Given the description of an element on the screen output the (x, y) to click on. 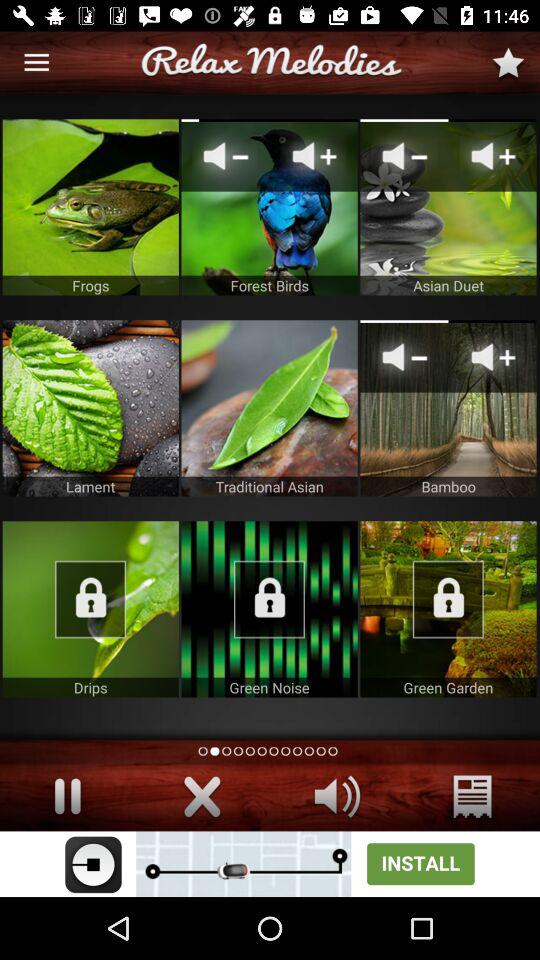
pause (67, 796)
